Given the description of an element on the screen output the (x, y) to click on. 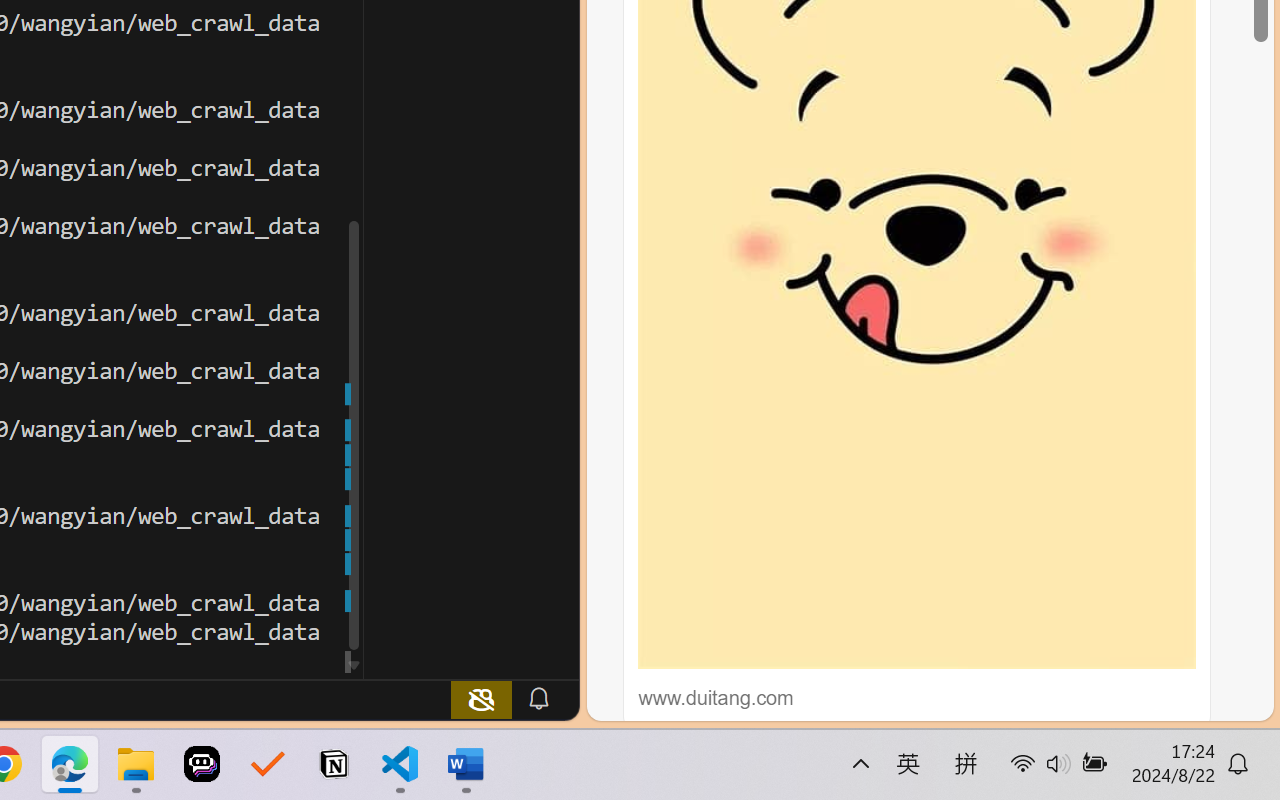
Notifications (537, 698)
copilot-notconnected, Copilot error (click for details) (481, 698)
